Given the description of an element on the screen output the (x, y) to click on. 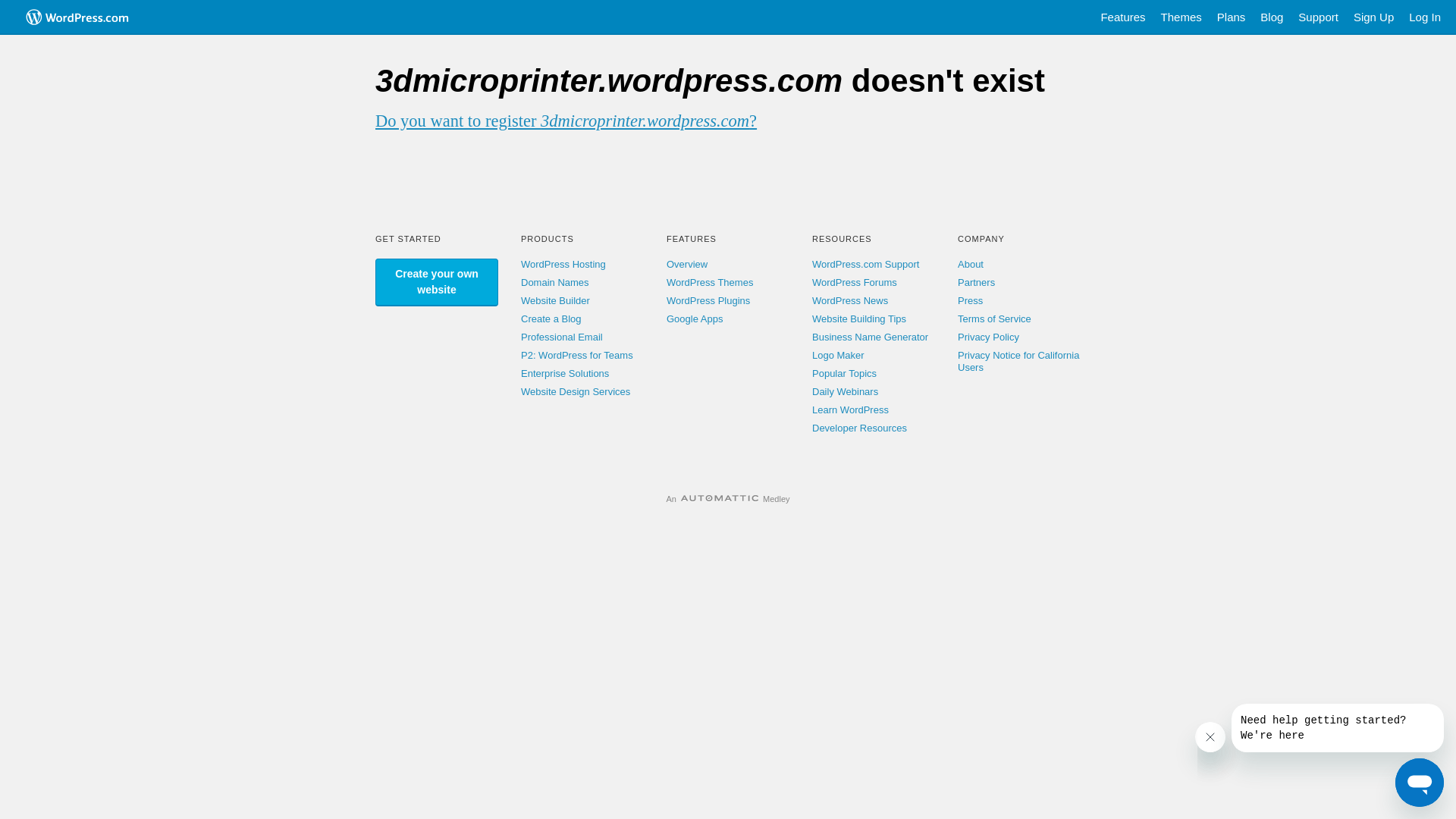
Button to launch messaging window Element type: hover (1419, 782)
P2: WordPress for Teams Element type: text (576, 354)
About Element type: text (970, 263)
WordPress Hosting Element type: text (562, 263)
Daily Webinars Element type: text (845, 391)
Blog Element type: text (1271, 17)
Automattic Element type: text (719, 498)
Support Element type: text (1318, 17)
Professional Email Element type: text (561, 336)
WordPress Forums Element type: text (854, 282)
Website Design Services Element type: text (575, 391)
Themes Element type: text (1181, 17)
Do you want to register 3dmicroprinter.wordpress.com? Element type: text (565, 120)
Popular Topics Element type: text (844, 373)
Partners Element type: text (975, 282)
Website Building Tips Element type: text (859, 318)
Overview Element type: text (686, 263)
Logo Maker Element type: text (838, 354)
Developer Resources Element type: text (859, 427)
Privacy Notice for California Users Element type: text (1018, 361)
Privacy Policy Element type: text (988, 336)
WordPress News Element type: text (850, 300)
Create a Blog Element type: text (550, 318)
Create your own website Element type: text (436, 282)
Terms of Service Element type: text (994, 318)
Features Element type: text (1122, 17)
Press Element type: text (969, 300)
WordPress Themes Element type: text (709, 282)
Business Name Generator Element type: text (870, 336)
Website Builder Element type: text (554, 300)
Google Apps Element type: text (694, 318)
Sign Up Element type: text (1373, 17)
Log In Element type: text (1424, 17)
Plans Element type: text (1231, 17)
Message from company Element type: hover (1337, 727)
WordPress Plugins Element type: text (707, 300)
Close message Element type: hover (1210, 736)
Enterprise Solutions Element type: text (564, 373)
WordPress.com Support Element type: text (865, 263)
Learn WordPress Element type: text (850, 409)
Domain Names Element type: text (554, 282)
